Given the description of an element on the screen output the (x, y) to click on. 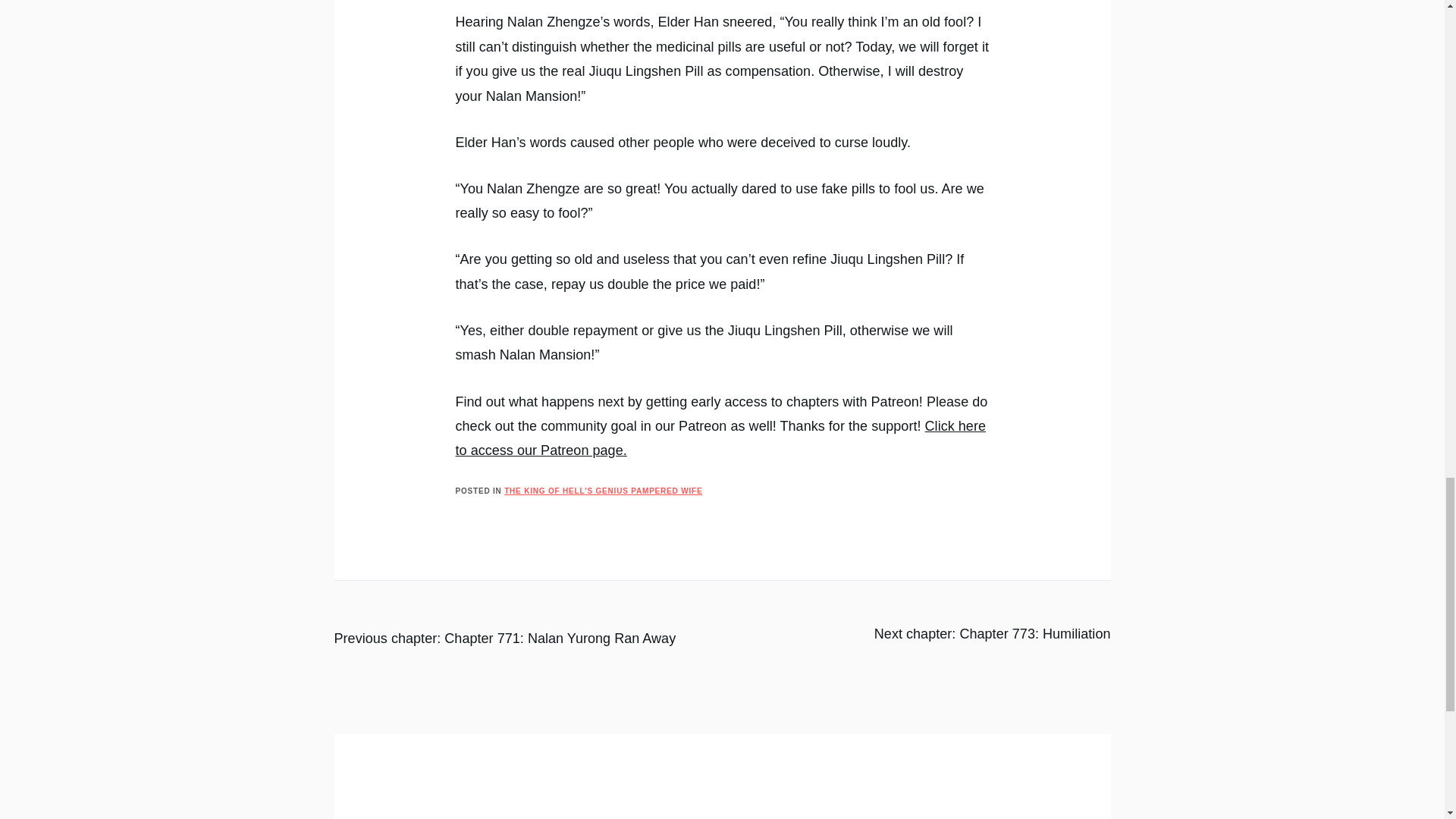
Next chapter: Chapter 773: Humiliation (992, 633)
Previous chapter: Chapter 771: Nalan Yurong Ran Away (504, 638)
THE KING OF HELL'S GENIUS PAMPERED WIFE (602, 490)
Click here to access our Patreon page. (719, 437)
